Given the description of an element on the screen output the (x, y) to click on. 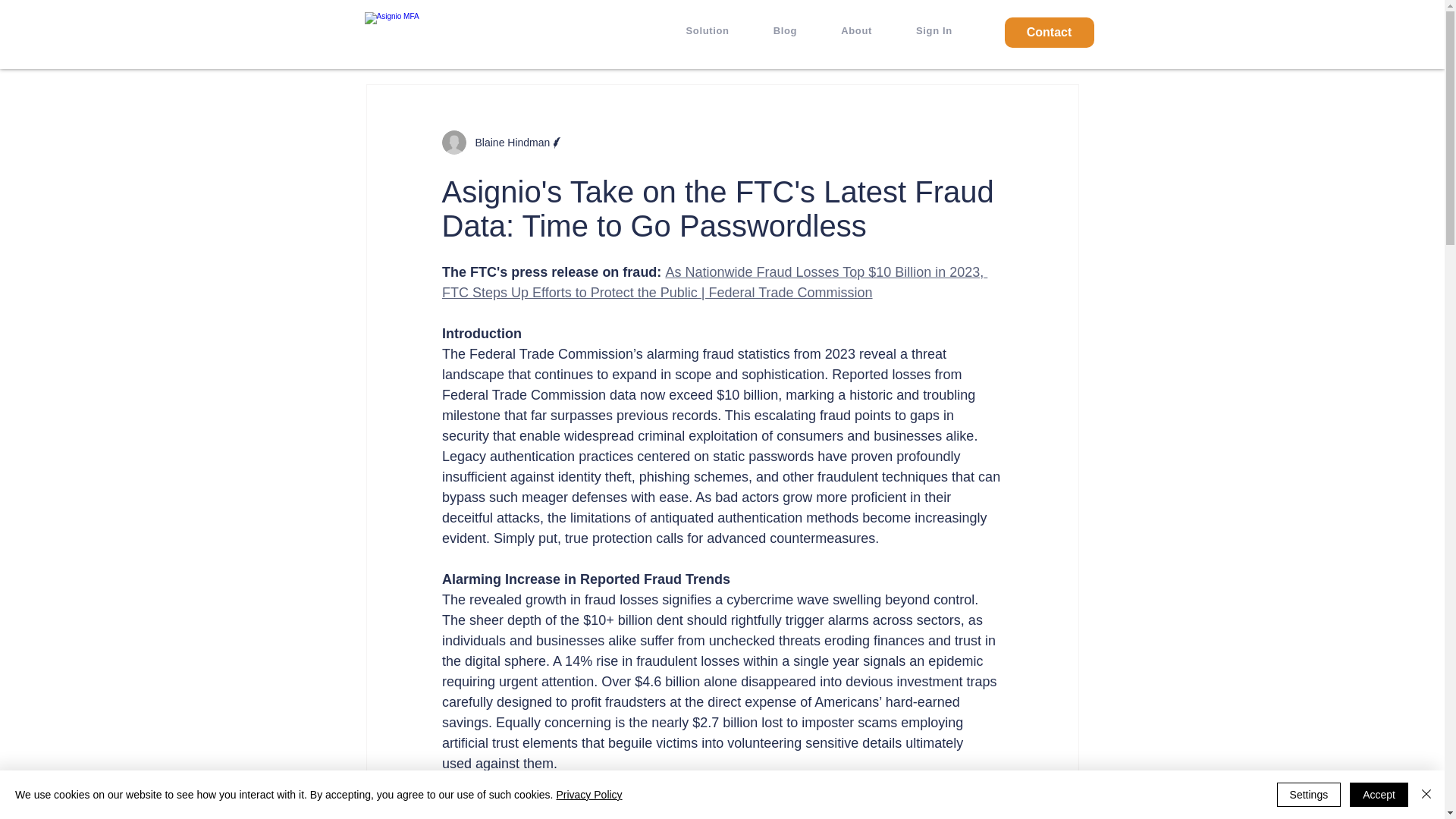
Settings (1308, 794)
Solution (707, 30)
Blaine Hindman (507, 142)
About (855, 30)
Contact (1048, 32)
Privacy Policy (588, 794)
Logo Blue.png (456, 30)
Sign In (933, 30)
Accept (1378, 794)
Blog (785, 30)
